Given the description of an element on the screen output the (x, y) to click on. 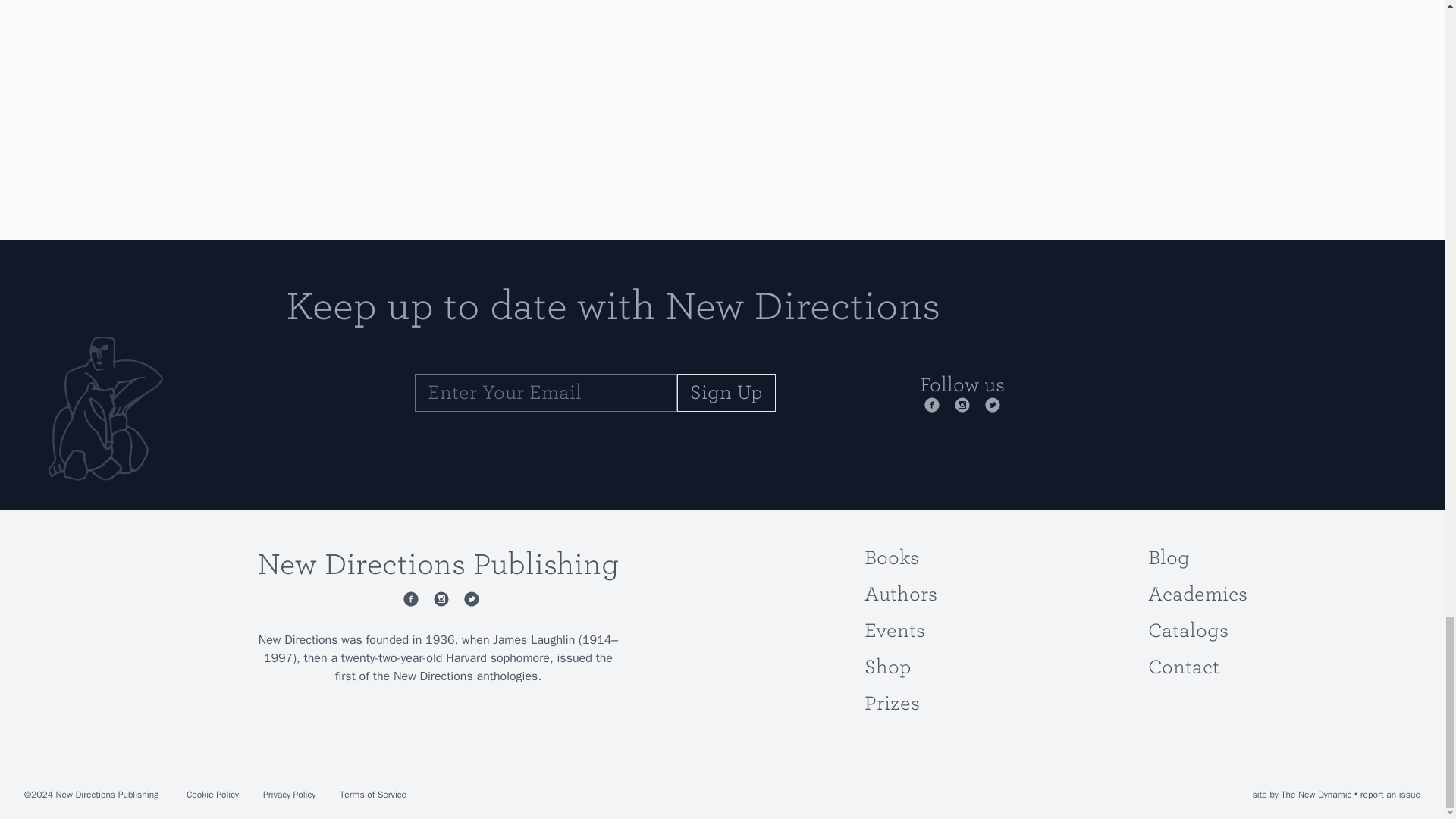
twitter (468, 598)
Cookie Policypage link (212, 794)
Blog page (1168, 557)
facebook (407, 598)
Prizes page (892, 703)
Events page (894, 630)
Privacy Policypage link (288, 794)
Academics page (1197, 594)
Shop page (887, 667)
instagram (437, 598)
